Given the description of an element on the screen output the (x, y) to click on. 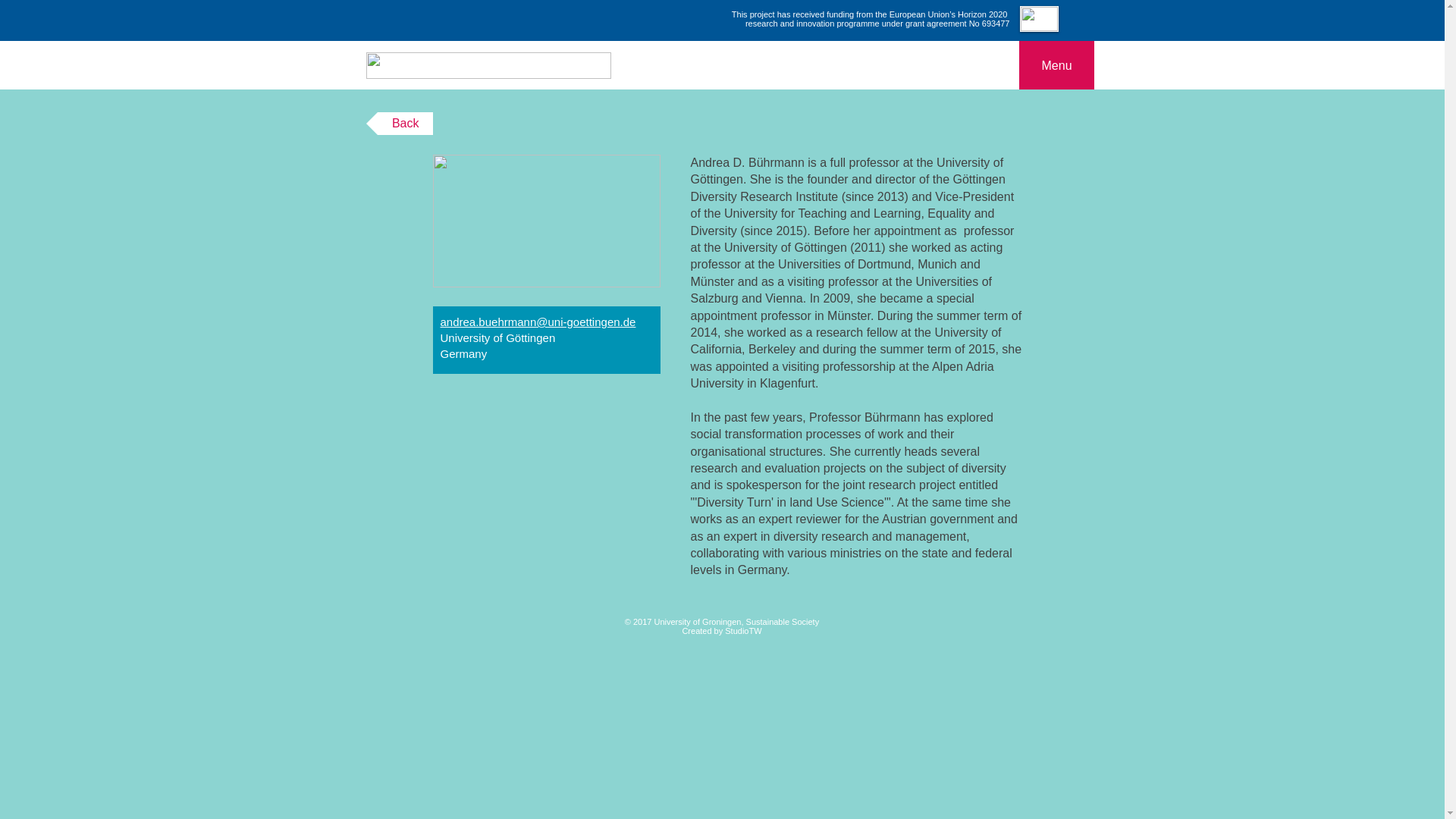
Created by StudioTW (721, 630)
Back (398, 123)
